Given the description of an element on the screen output the (x, y) to click on. 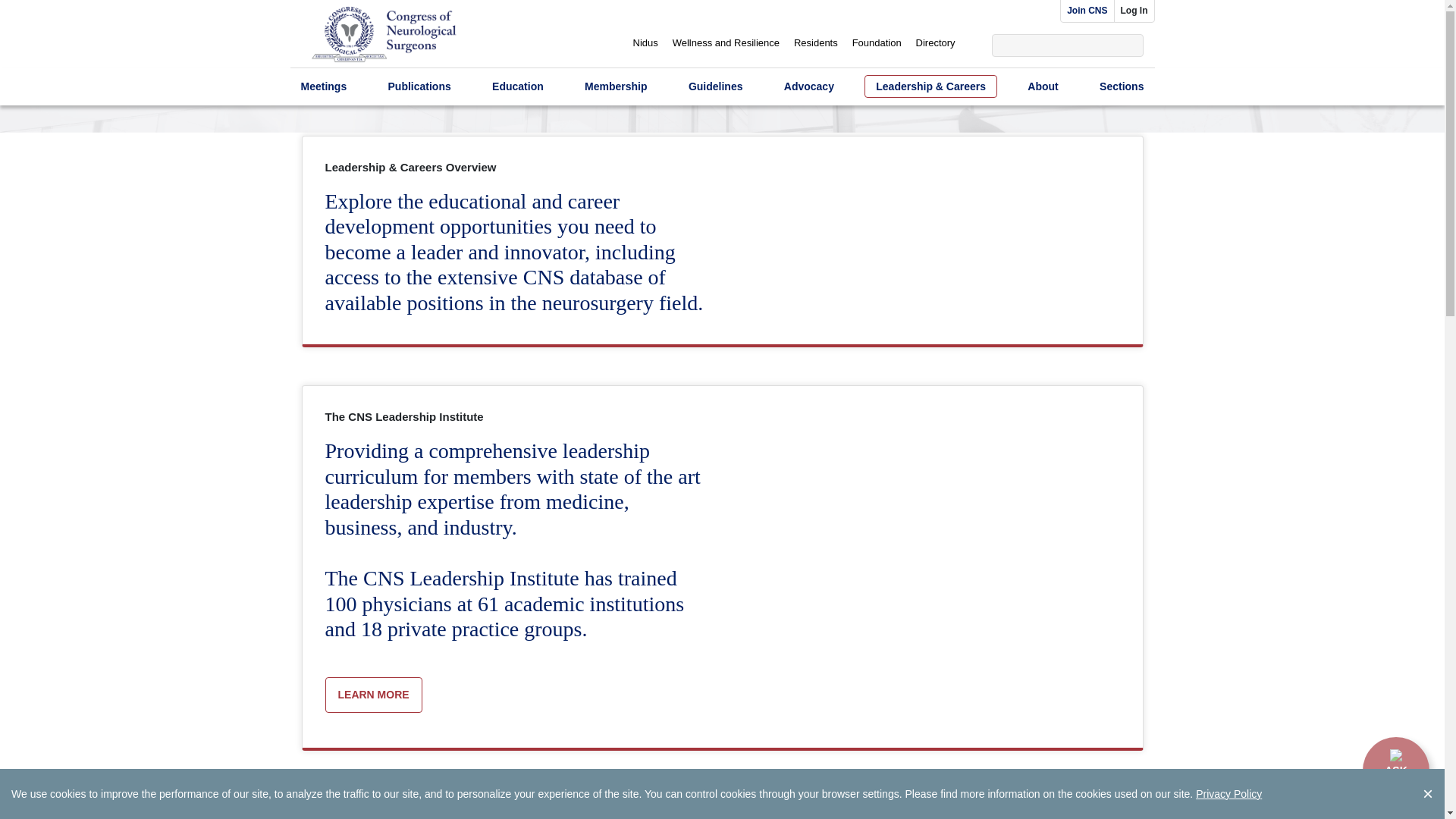
Foundation (876, 42)
cns.org (383, 36)
Join CNS (1086, 11)
Publications (419, 86)
Log In (1133, 11)
Directory (935, 42)
Nidus (644, 42)
Meetings (322, 86)
Wellness and Resilience (725, 42)
